Given the description of an element on the screen output the (x, y) to click on. 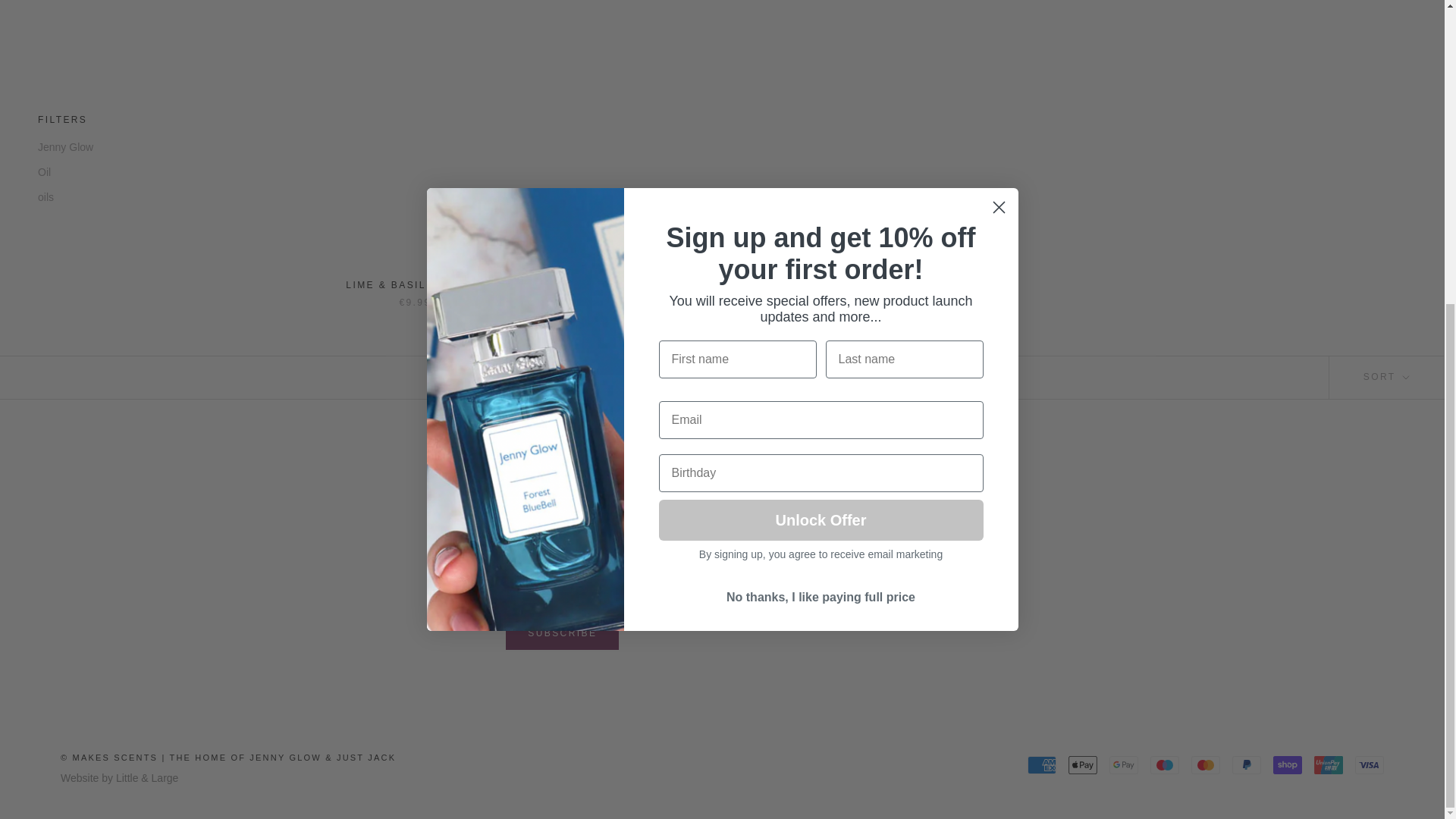
Apple Pay (1082, 764)
Shop Pay (1286, 764)
American Express (1042, 764)
PayPal (1245, 764)
Union Pay (1328, 764)
Mastercard (1205, 764)
Google Pay (1123, 764)
Visa (1369, 764)
Maestro (1164, 764)
